Given the description of an element on the screen output the (x, y) to click on. 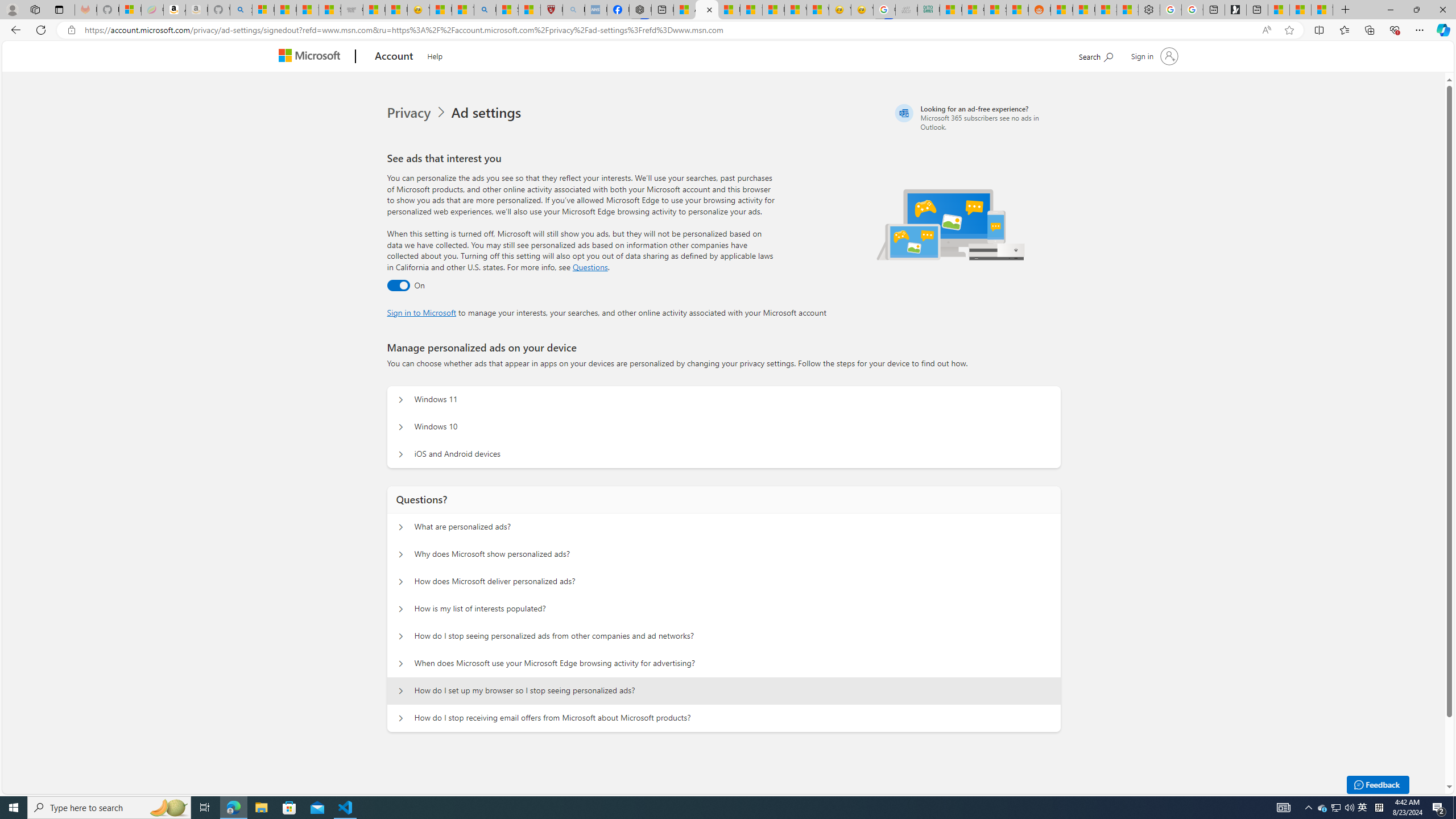
Recipes - MSN (441, 9)
Go to Questions section (590, 266)
